Given the description of an element on the screen output the (x, y) to click on. 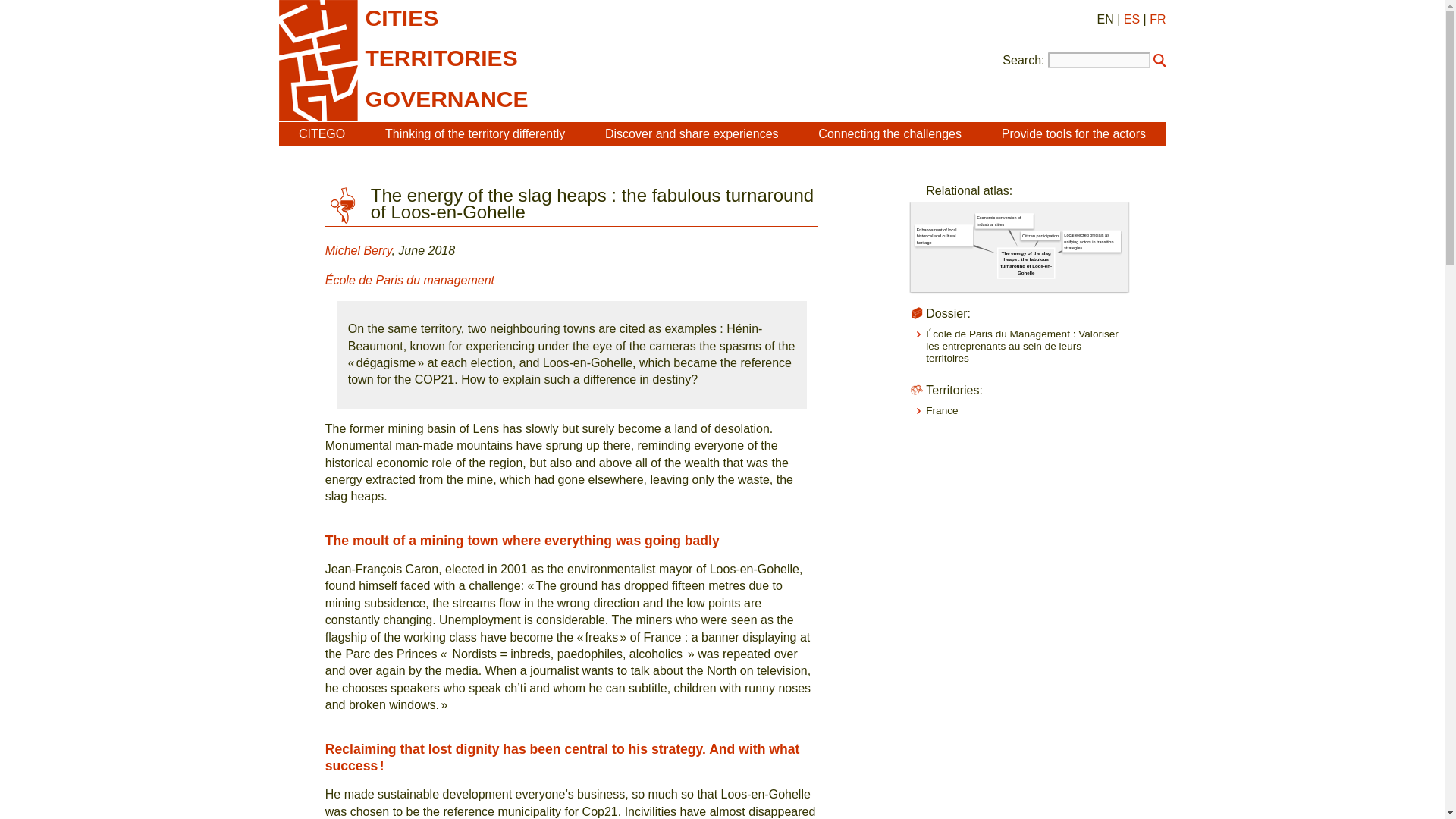
France (942, 410)
Discover and share experiences (691, 133)
Connecting the challenges (889, 133)
Provide tools for the actors (1073, 133)
Citizen participation (1070, 239)
Michel Berry (357, 250)
CITEGO (321, 133)
ES (1132, 19)
Economic conversion of industrial cities (1034, 229)
